Given the description of an element on the screen output the (x, y) to click on. 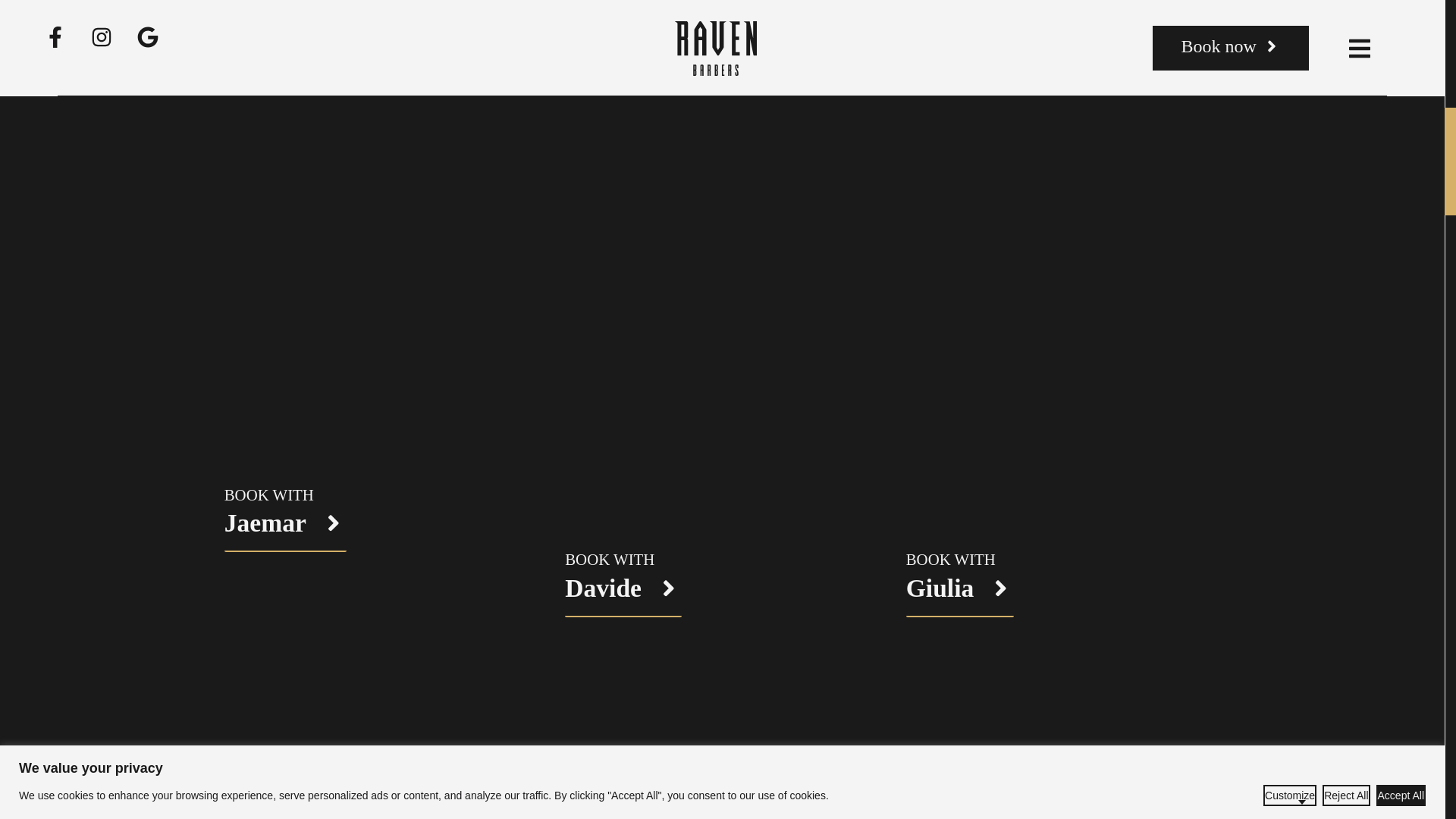
Giulia (959, 596)
Jaemar (285, 531)
Davide (622, 596)
